Given the description of an element on the screen output the (x, y) to click on. 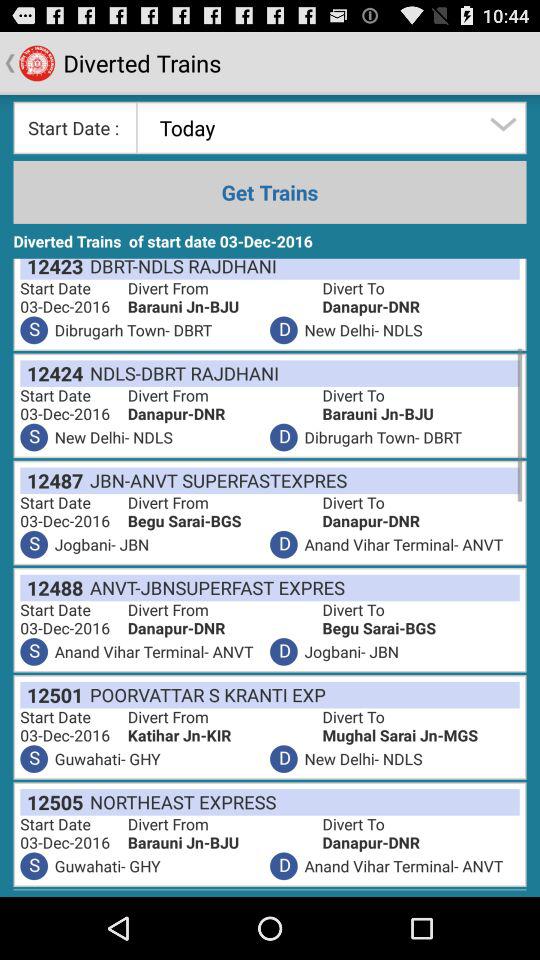
swipe to get trains icon (269, 191)
